Given the description of an element on the screen output the (x, y) to click on. 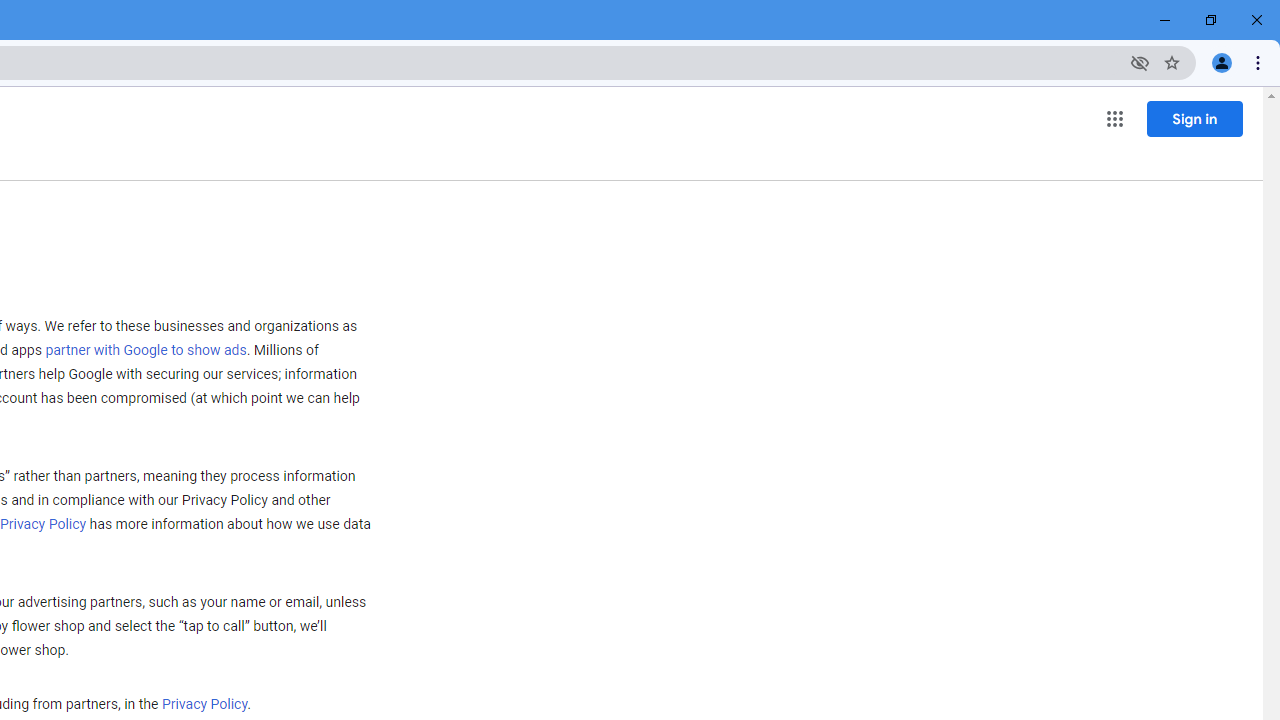
partner with Google to show ads (145, 351)
